Given the description of an element on the screen output the (x, y) to click on. 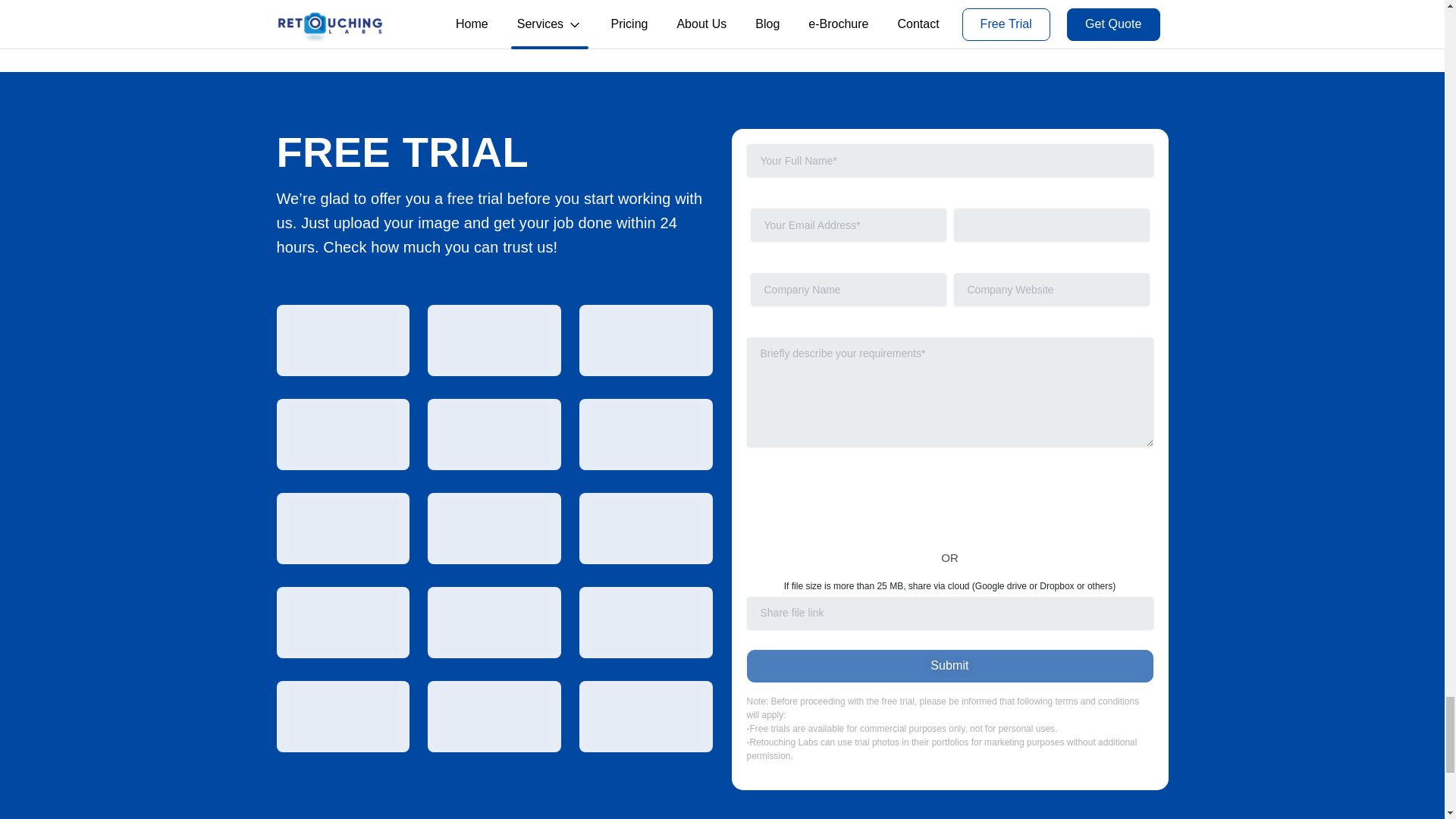
Submit (949, 666)
